Given the description of an element on the screen output the (x, y) to click on. 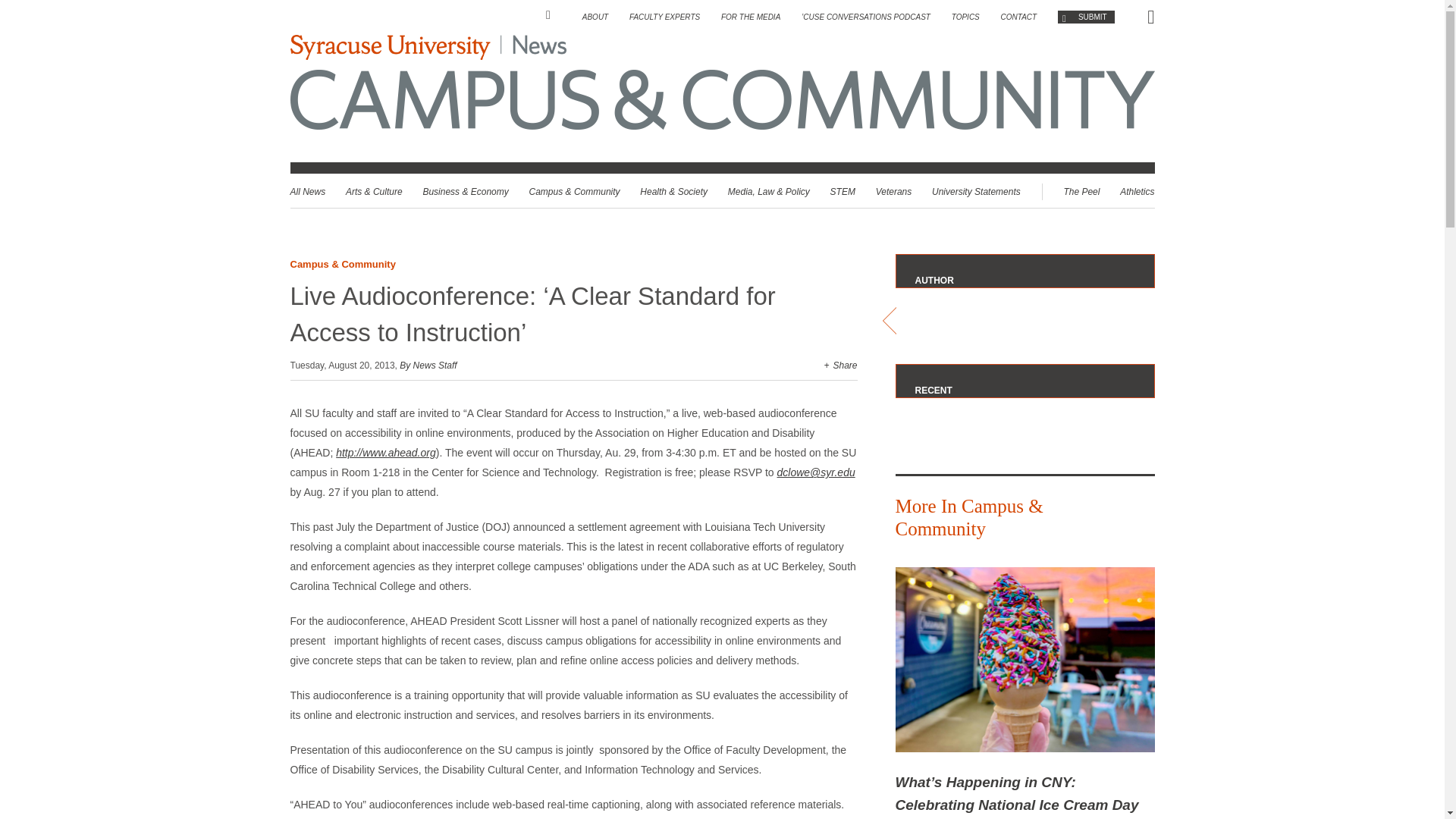
University Statements (975, 191)
STEM (842, 191)
All News (306, 191)
Home (553, 15)
Veterans (894, 191)
About (595, 17)
Submit (1086, 16)
TOPICS (965, 17)
Syracuse University News (427, 47)
Faculty Experts (664, 17)
The Peel (1080, 191)
FOR THE MEDIA (750, 17)
Contact (1018, 17)
SUBMIT (1086, 16)
Athletics (1136, 191)
